Given the description of an element on the screen output the (x, y) to click on. 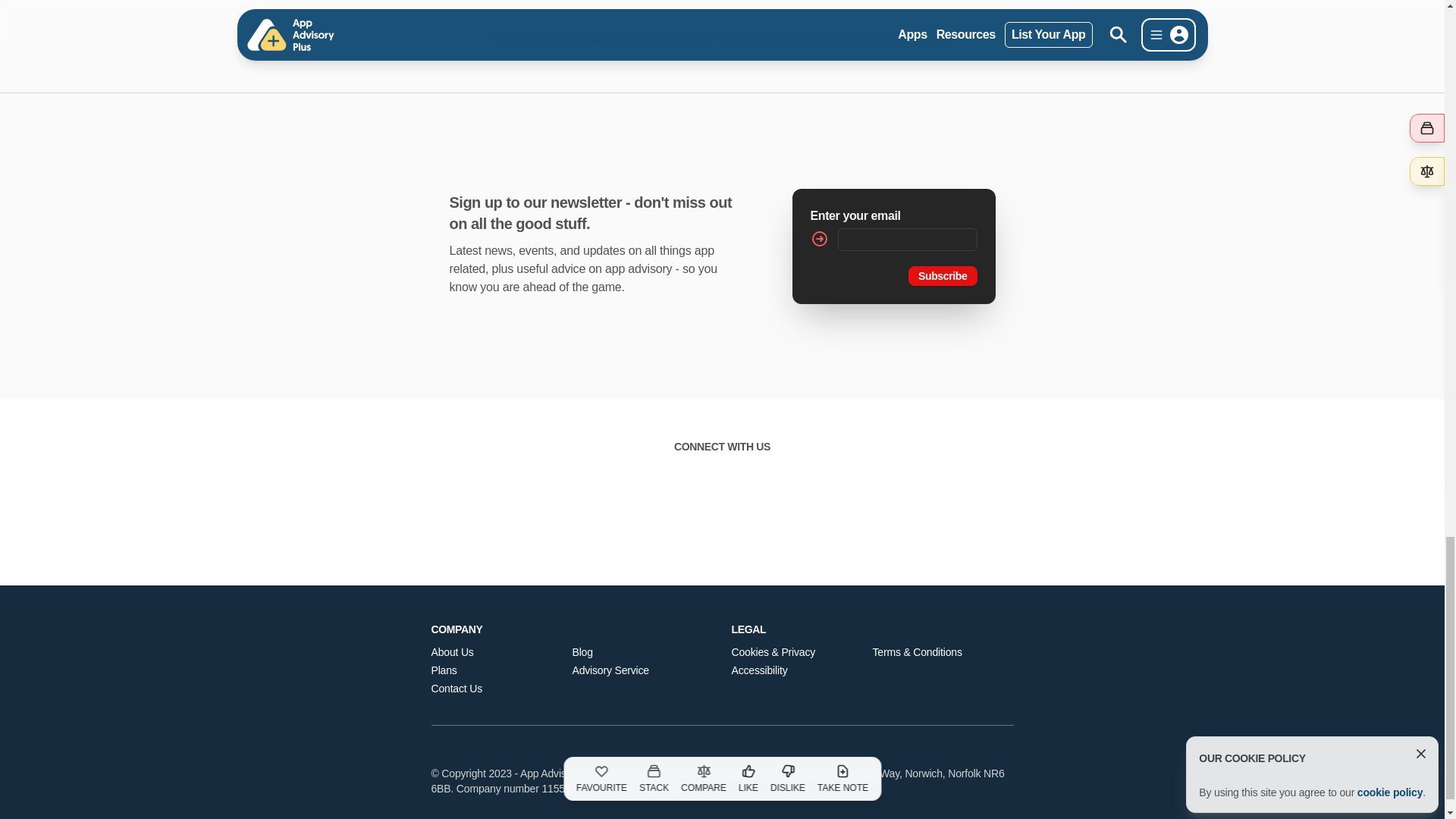
Subscribe (942, 275)
here (939, 37)
